Given the description of an element on the screen output the (x, y) to click on. 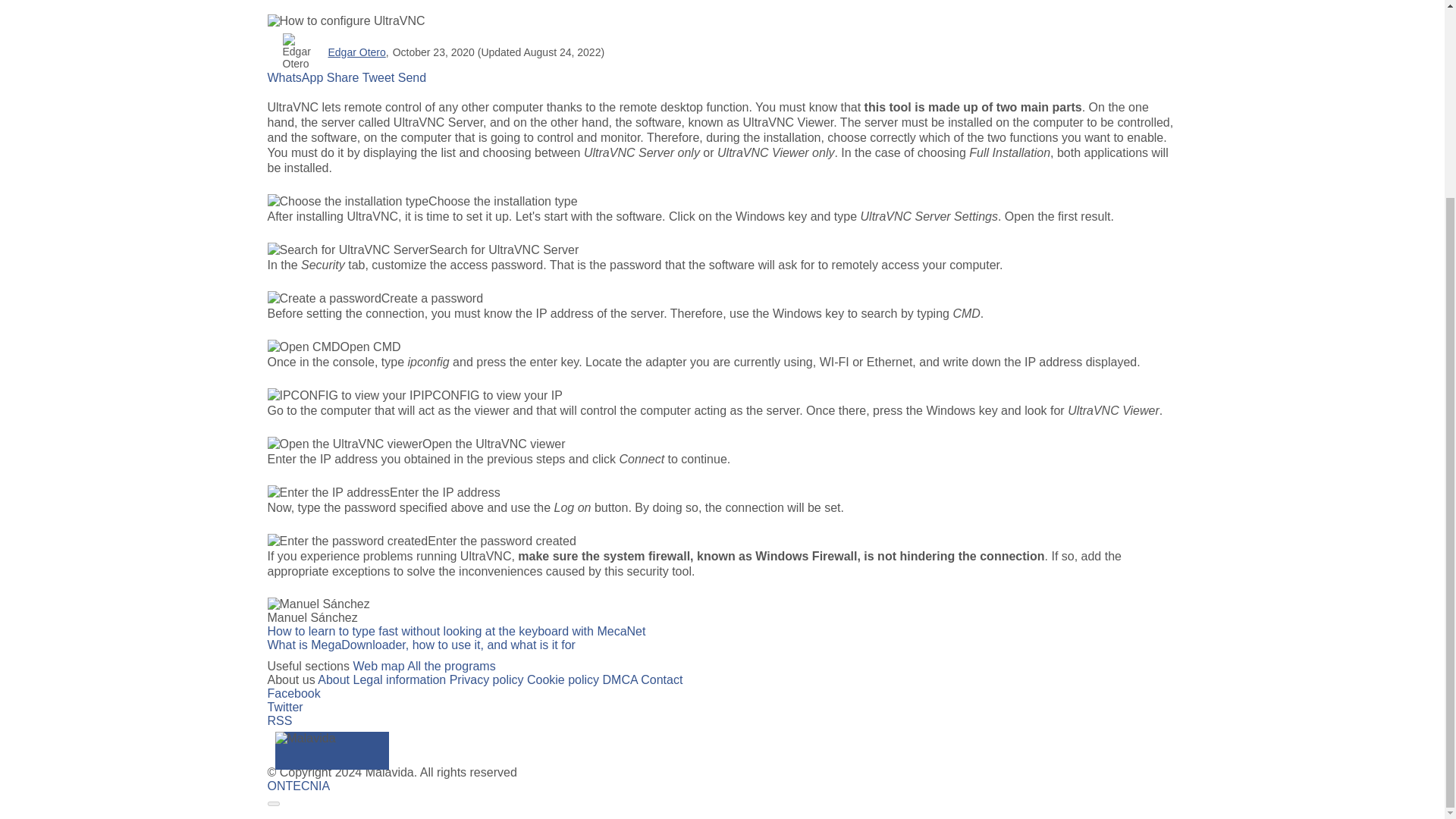
Send (411, 77)
DMCA (619, 679)
Web map (378, 666)
About (333, 679)
ONTECNIA (298, 785)
RSS (279, 720)
All the programs (451, 666)
Edgar Otero (356, 51)
Twitter (284, 707)
Privacy policy (486, 679)
